Given the description of an element on the screen output the (x, y) to click on. 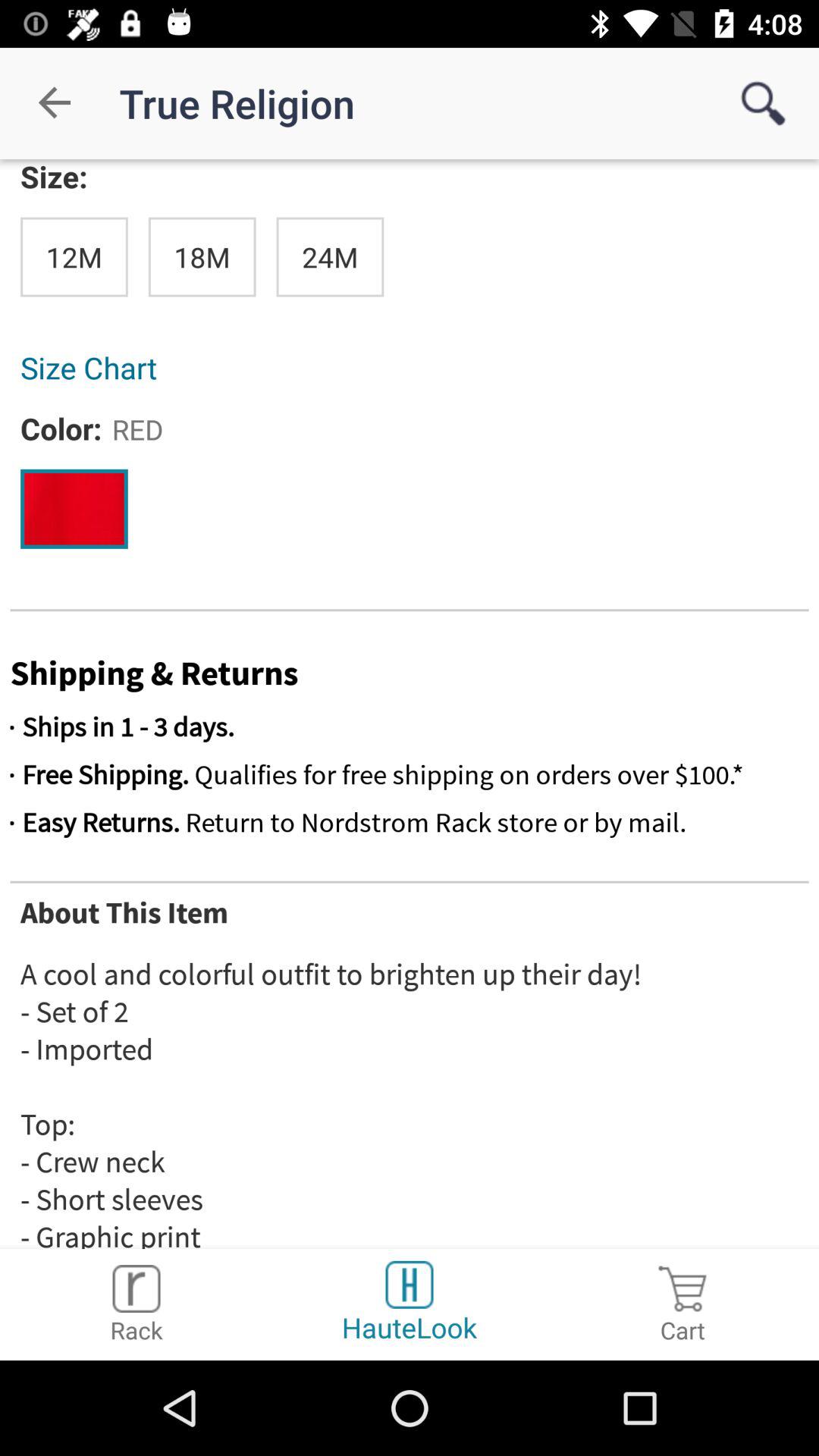
turn off the item above the size chart item (201, 256)
